Given the description of an element on the screen output the (x, y) to click on. 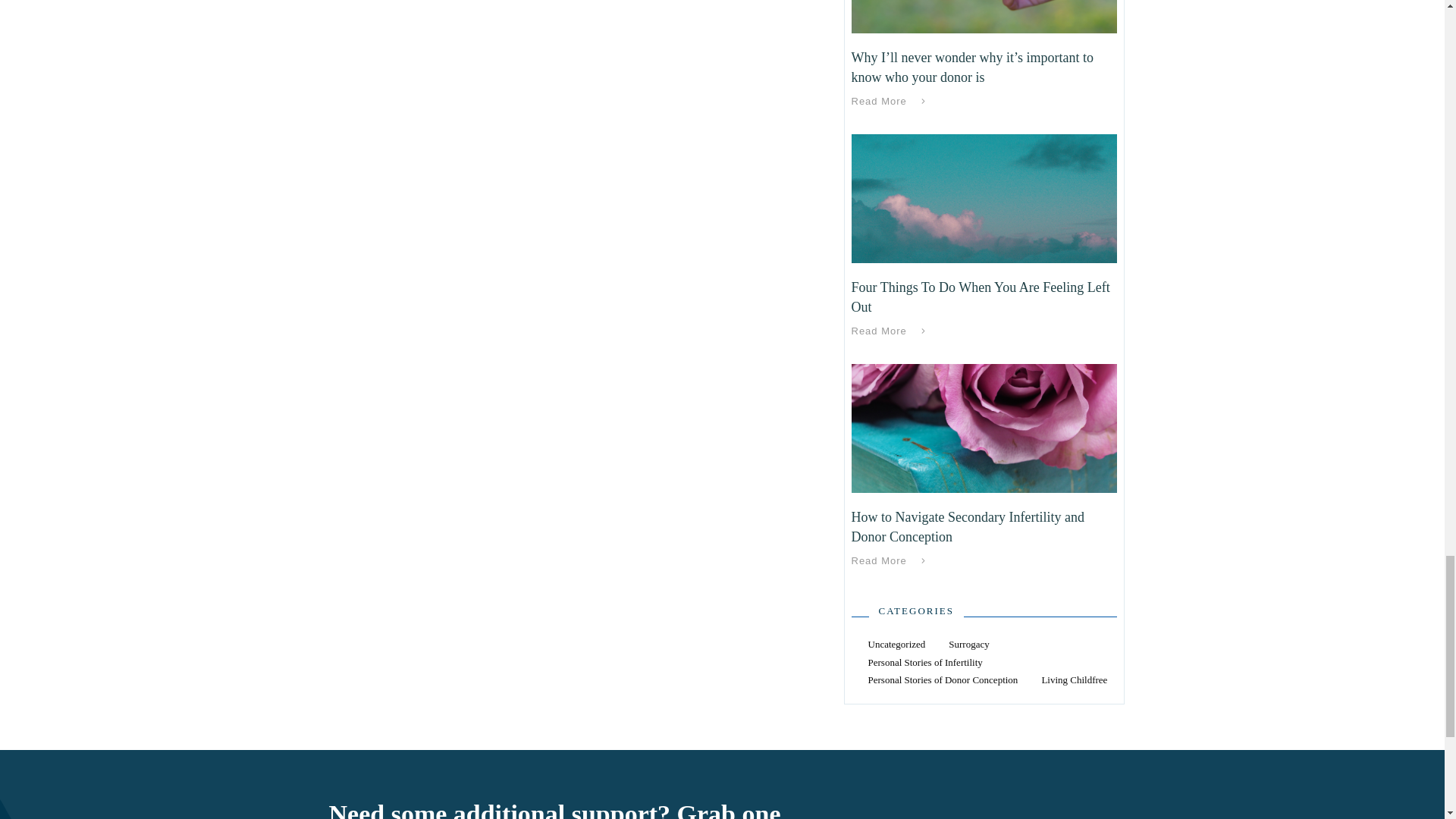
Uncategorized (895, 643)
Four Things To Do When You Are Feeling Left Out (979, 296)
Read More (890, 560)
Read More (890, 331)
How to Navigate Secondary Infertility and Donor Conception (966, 526)
How to Navigate Secondary Infertility and Donor Conception (966, 526)
Four Things To Do When You Are Feeling Left Out (979, 296)
Read More (890, 101)
